Given the description of an element on the screen output the (x, y) to click on. 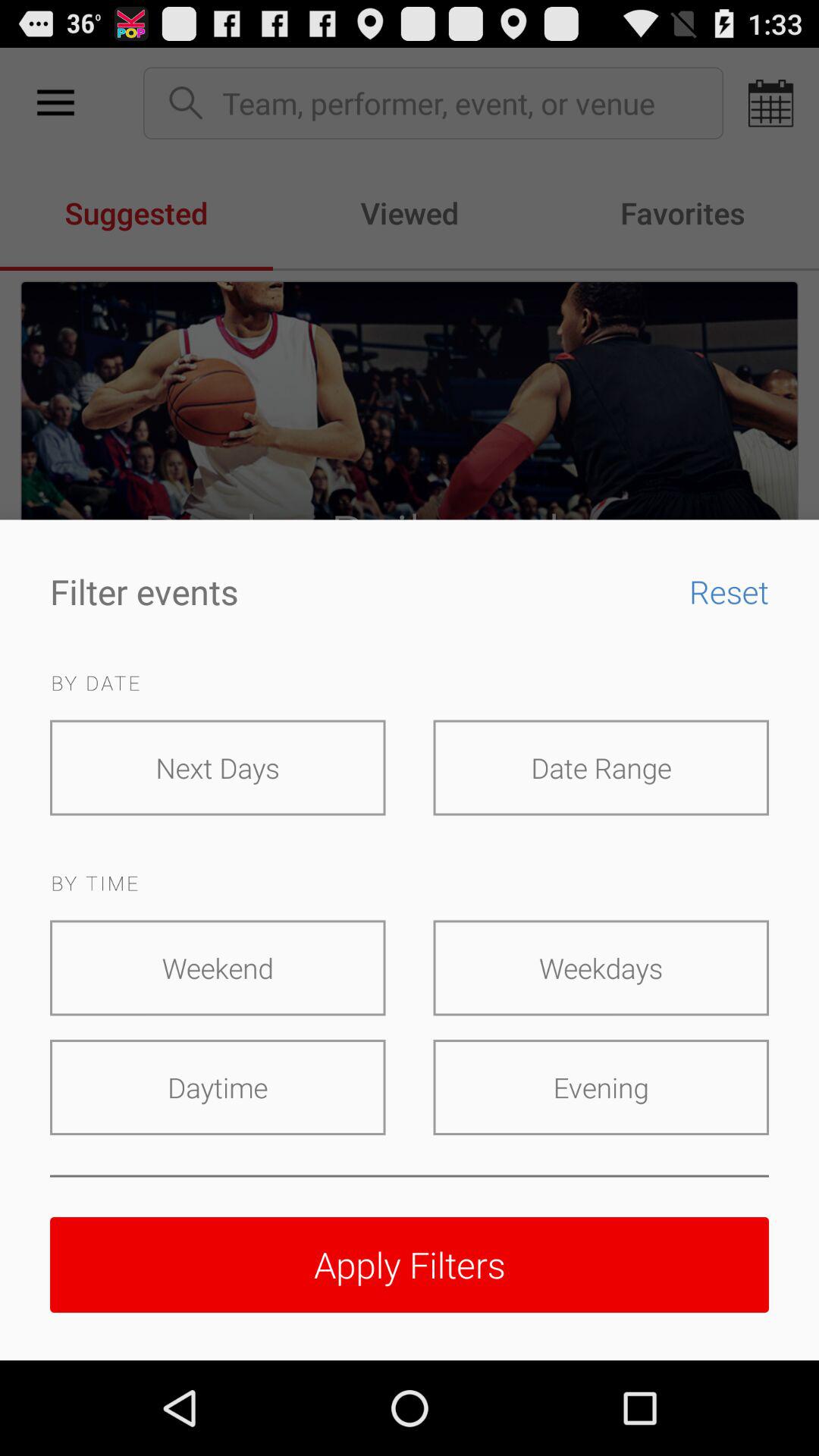
turn on icon at the bottom left corner (217, 1087)
